Given the description of an element on the screen output the (x, y) to click on. 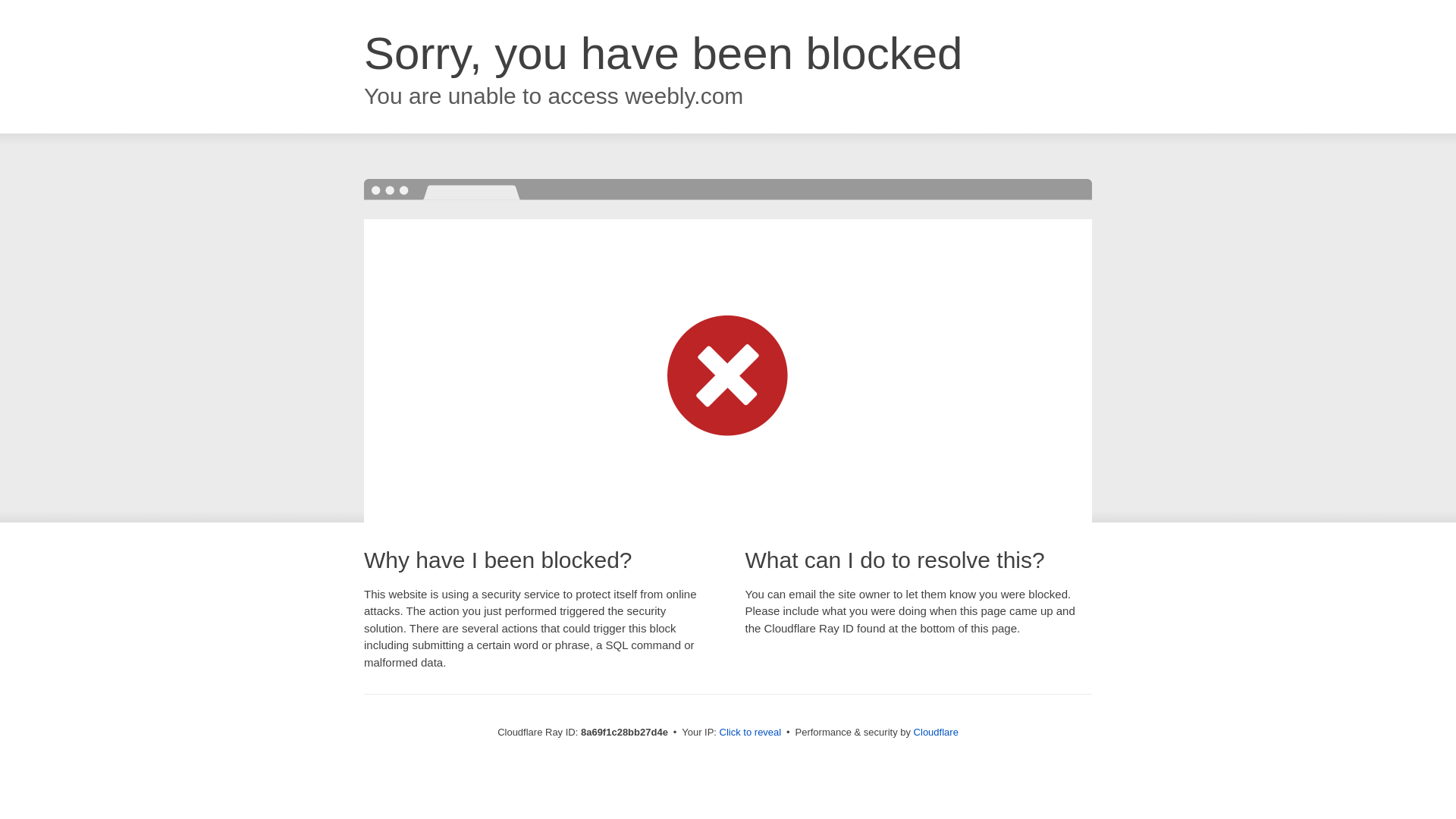
Cloudflare (936, 731)
Click to reveal (750, 732)
